Given the description of an element on the screen output the (x, y) to click on. 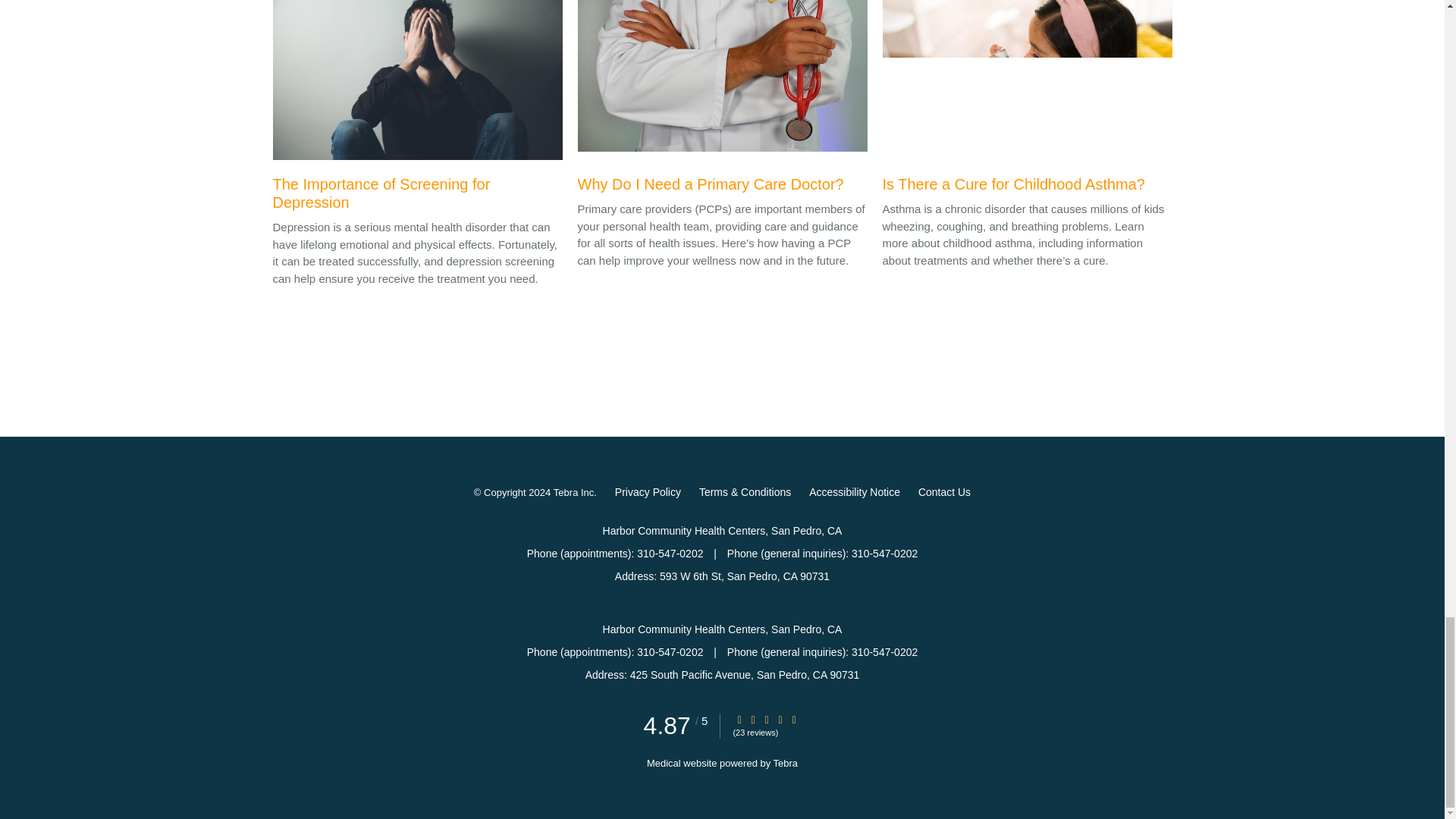
Star Rating (753, 719)
Star Rating (738, 719)
Star Rating (766, 719)
Star Rating (780, 719)
Star Rating (794, 719)
